Given the description of an element on the screen output the (x, y) to click on. 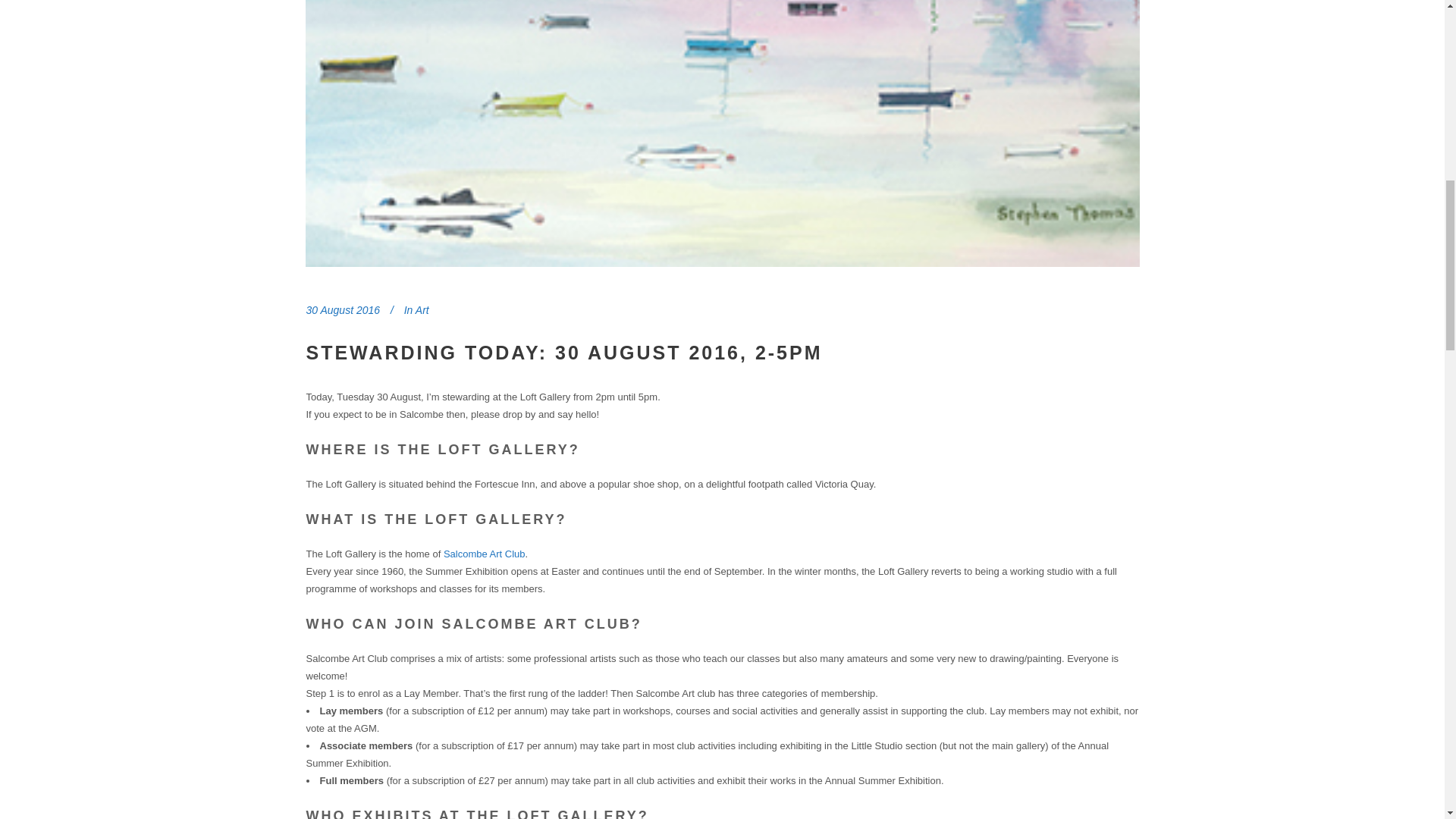
Art (421, 309)
Salcombe Art Club (484, 553)
STEWARDING TODAY: 30 August 2016, 2-5pm (563, 352)
STEWARDING TODAY: 30 AUGUST 2016, 2-5PM (563, 352)
